Given the description of an element on the screen output the (x, y) to click on. 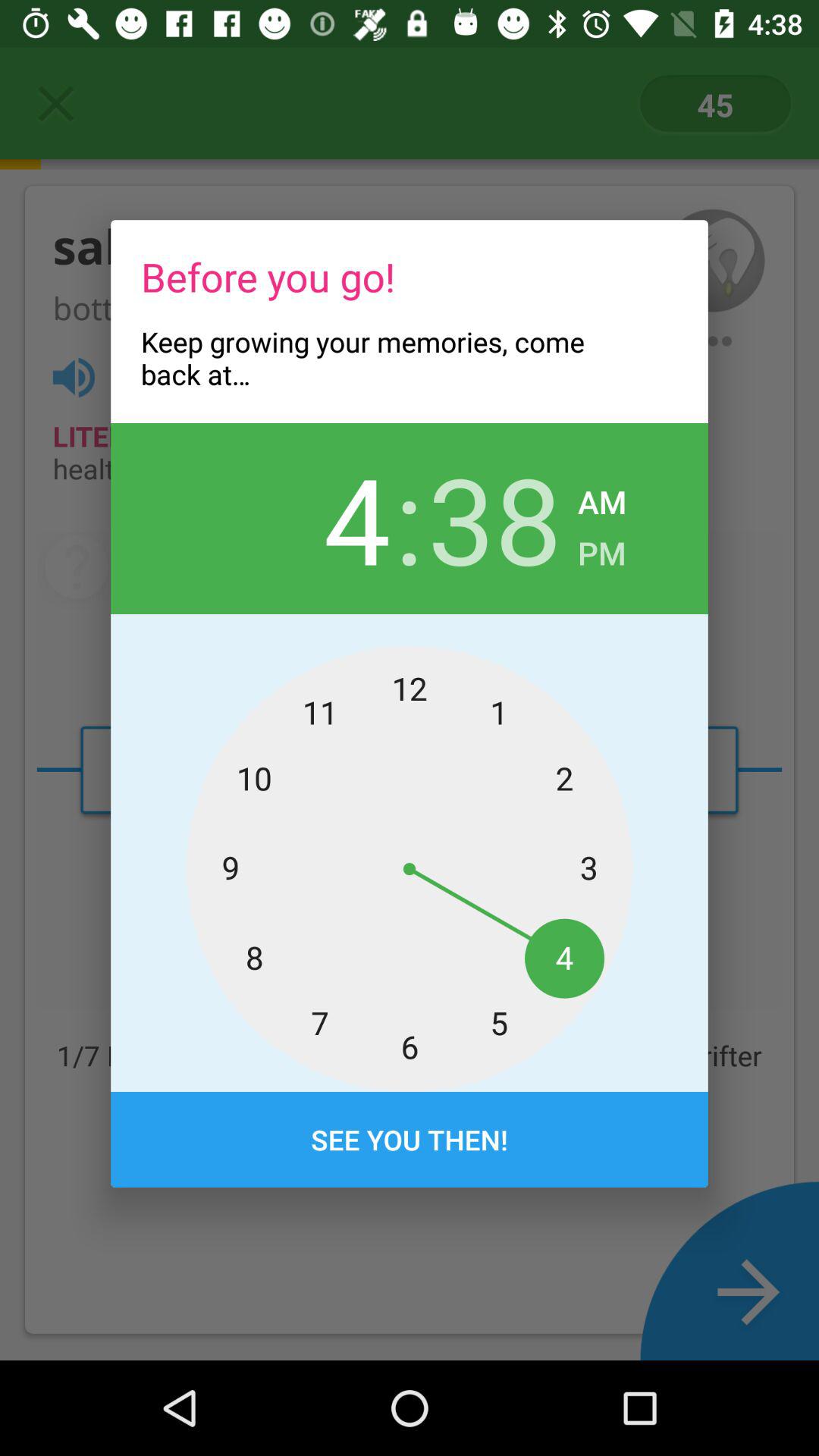
tap icon next to 38 icon (601, 497)
